Given the description of an element on the screen output the (x, y) to click on. 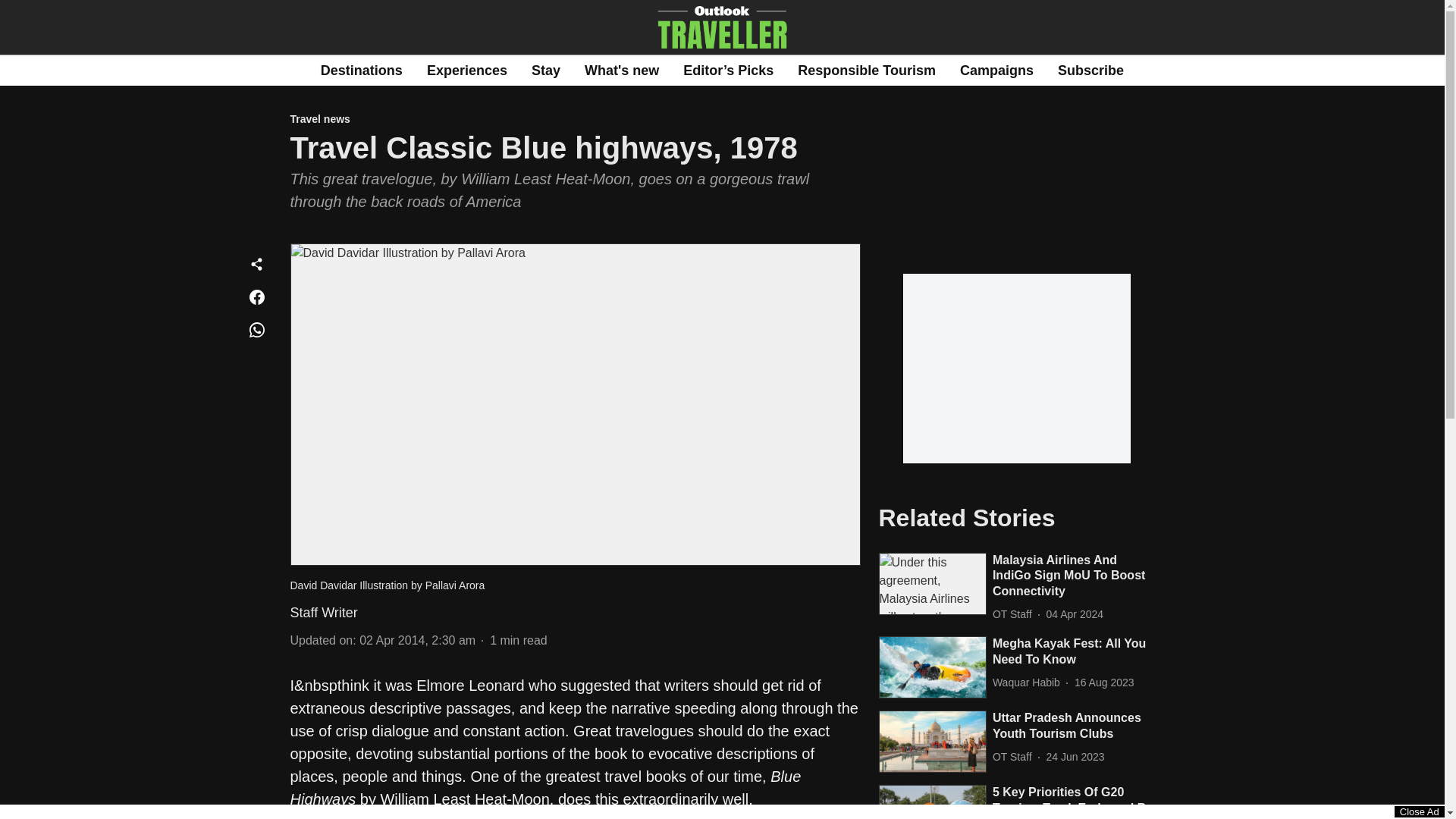
Travel news (574, 119)
Stay (545, 70)
What's new (622, 70)
2023-06-24 10:27 (1075, 756)
Staff Writer (322, 612)
Subscribe (1091, 70)
2023-08-16 15:30 (1104, 682)
Malaysia Airlines And IndiGo Sign MoU To Boost Connectivity (1073, 575)
Destinations (361, 70)
Experiences (466, 70)
